Given the description of an element on the screen output the (x, y) to click on. 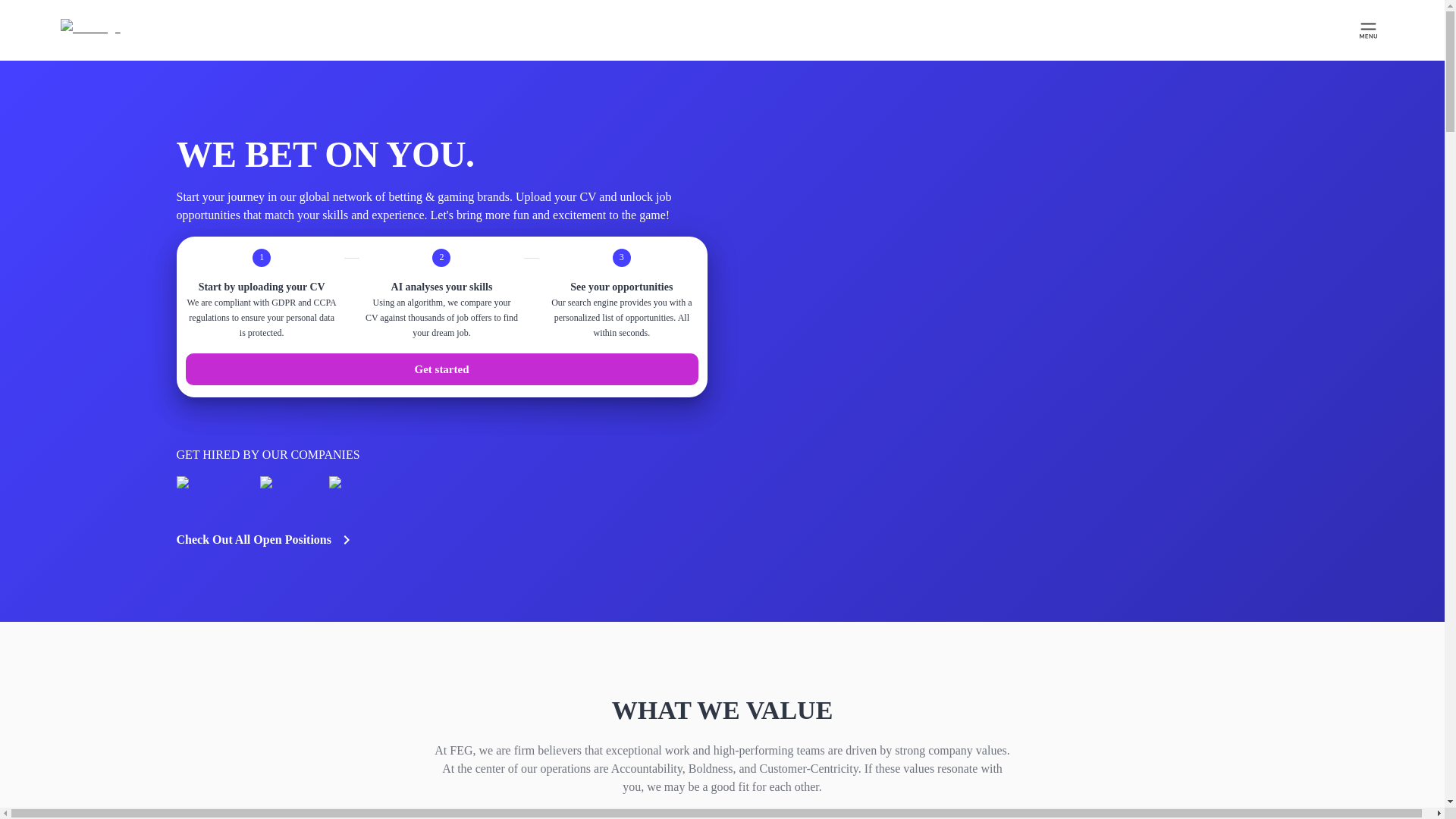
Get started (440, 368)
Check Out All Open Positions (265, 539)
